Given the description of an element on the screen output the (x, y) to click on. 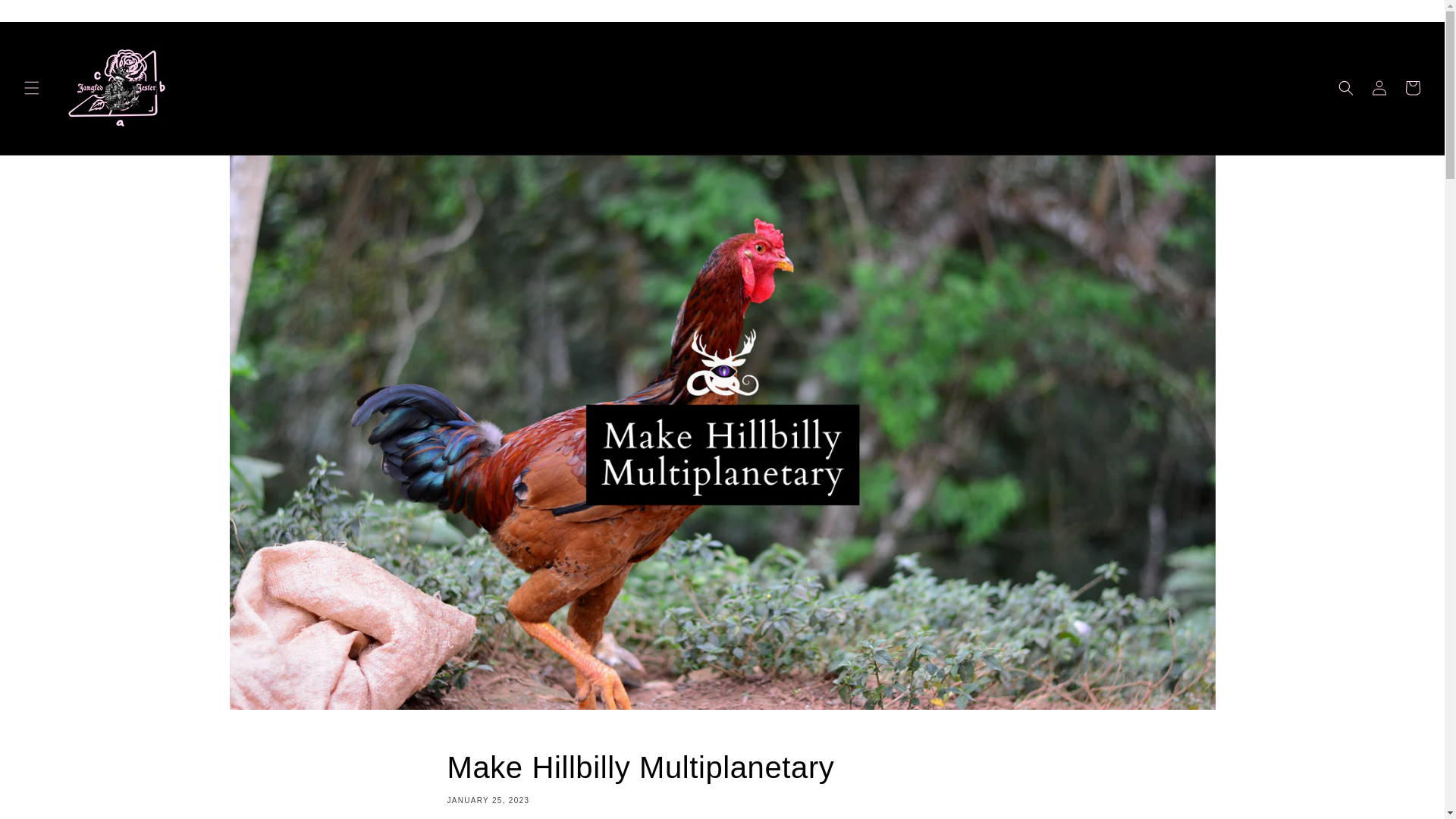
Log in (1379, 87)
Skip to content (45, 17)
Cart (1412, 87)
